Given the description of an element on the screen output the (x, y) to click on. 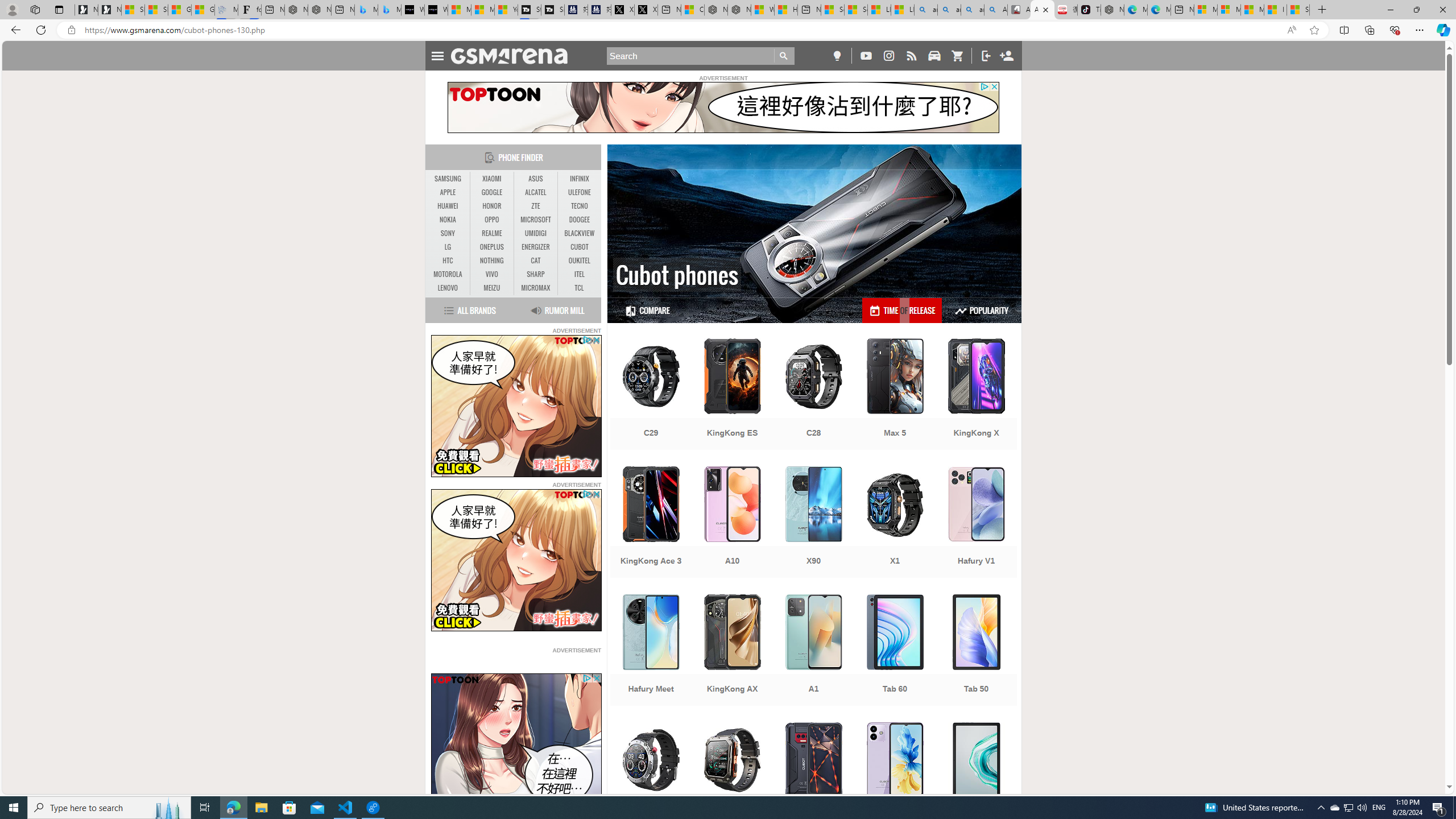
INFINIX (579, 178)
NOKIA (448, 219)
ONEPLUS (491, 246)
KingKong Ace 3 (650, 523)
NOKIA (448, 219)
Huge shark washes ashore at New York City beach | Watch (786, 9)
Microsoft Bing Travel - Stays in Bangkok, Bangkok, Thailand (365, 9)
VIVO (491, 273)
